Given the description of an element on the screen output the (x, y) to click on. 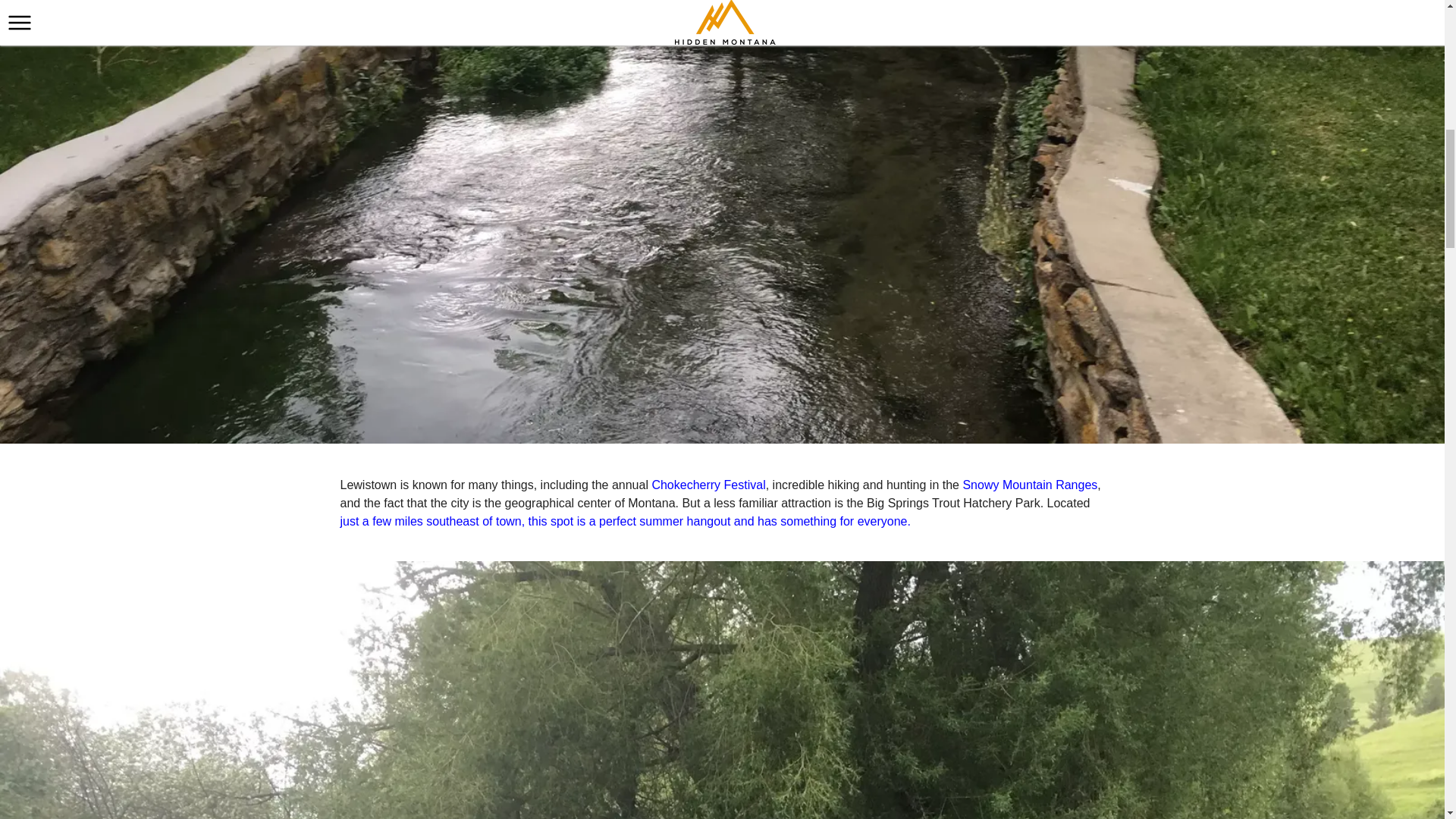
Chokecherry Festival (707, 484)
Snowy Mountain Ranges (1029, 484)
